Given the description of an element on the screen output the (x, y) to click on. 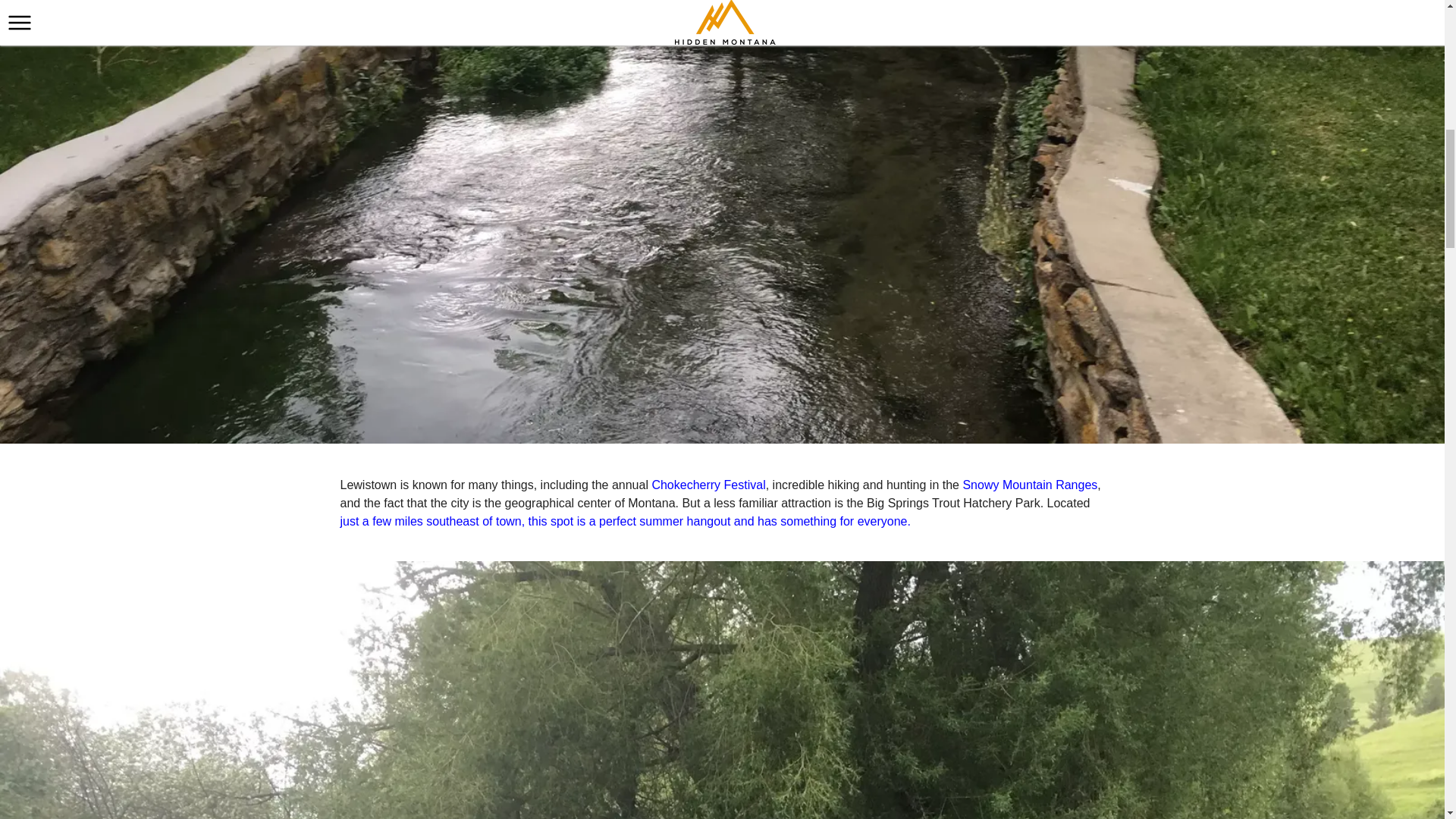
Chokecherry Festival (707, 484)
Snowy Mountain Ranges (1029, 484)
